Given the description of an element on the screen output the (x, y) to click on. 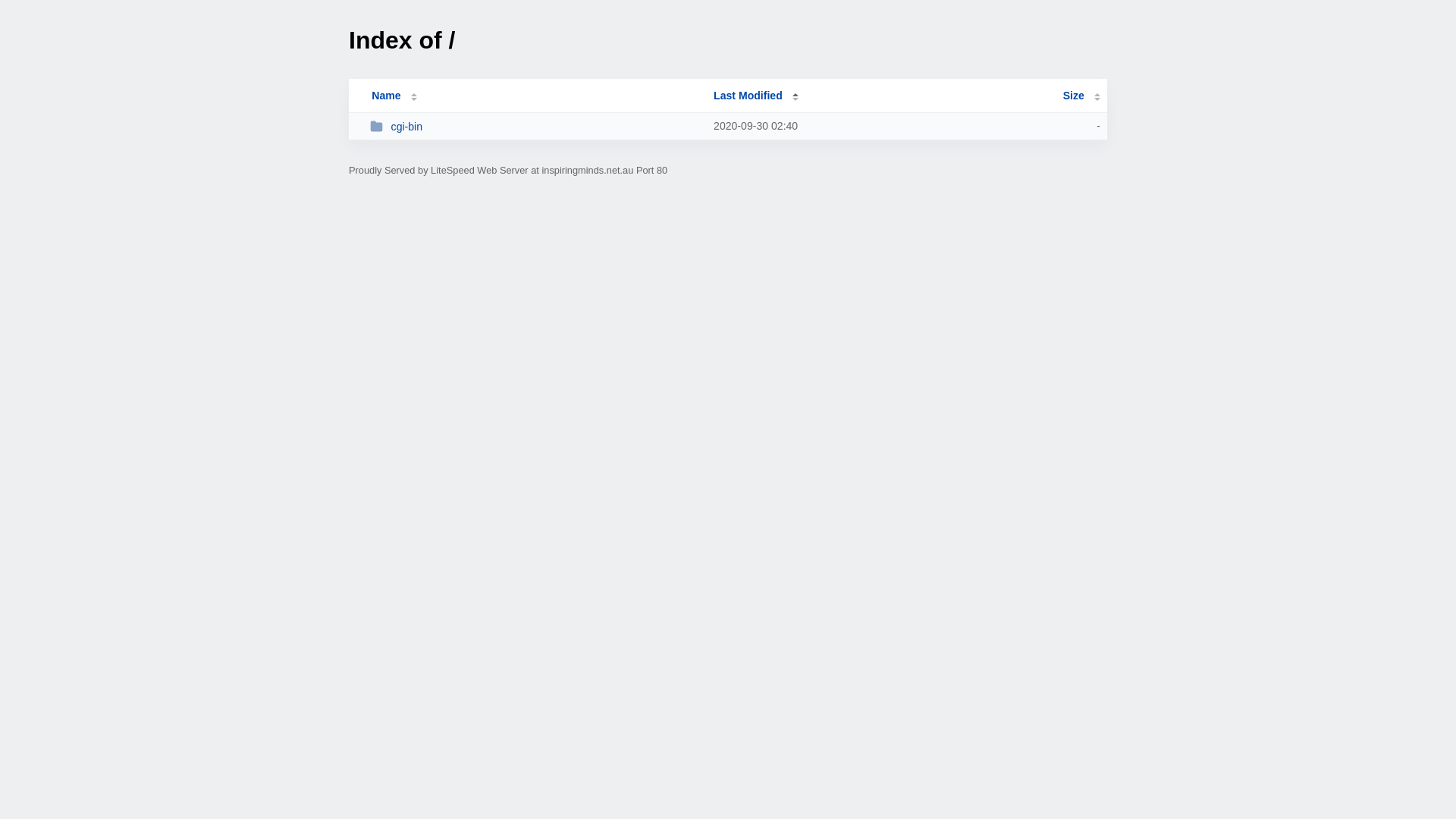
cgi-bin Element type: text (534, 125)
Name Element type: text (385, 95)
Last Modified Element type: text (755, 95)
Size Element type: text (1081, 95)
